Given the description of an element on the screen output the (x, y) to click on. 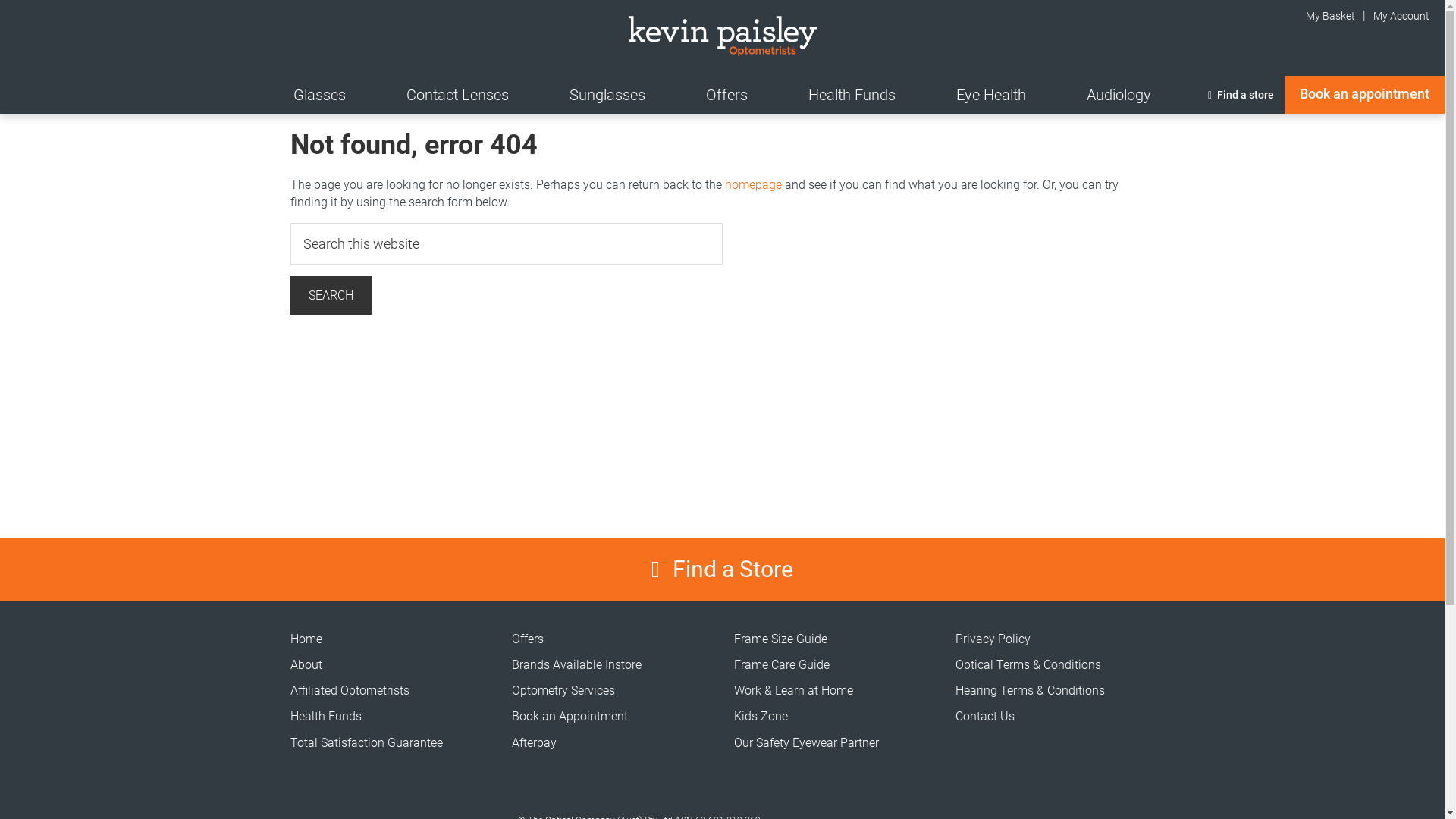
Find a store Element type: text (1240, 94)
Eye Health Element type: text (990, 94)
homepage Element type: text (752, 184)
About Element type: text (305, 664)
Frame Care Guide Element type: text (781, 664)
Affiliated Optometrists Element type: text (348, 690)
Health Funds Element type: text (324, 716)
Work & Learn at Home Element type: text (793, 690)
My Account Element type: text (1401, 15)
Book an appointment Element type: text (1364, 94)
Contact Lenses Element type: text (457, 94)
Home Element type: text (305, 638)
Offers Element type: text (527, 638)
Audiology Element type: text (1118, 94)
Frame Size Guide Element type: text (780, 638)
Afterpay Element type: text (533, 742)
Sunglasses Element type: text (607, 94)
Brands Available Instore Element type: text (576, 664)
My Basket Element type: text (1321, 15)
Book an Appointment Element type: text (569, 716)
Total Satisfaction Guarantee Element type: text (365, 742)
Optical Terms & Conditions Element type: text (1028, 664)
Kids Zone Element type: text (760, 716)
Search Element type: text (329, 295)
Find a Store Element type: text (722, 569)
Contact Us Element type: text (984, 716)
Privacy Policy Element type: text (992, 638)
Our Safety Eyewear Partner Element type: text (806, 742)
Optometry Services Element type: text (563, 690)
Glasses Element type: text (319, 94)
Hearing Terms & Conditions Element type: text (1029, 690)
Health Funds Element type: text (851, 94)
Offers Element type: text (726, 94)
